Given the description of an element on the screen output the (x, y) to click on. 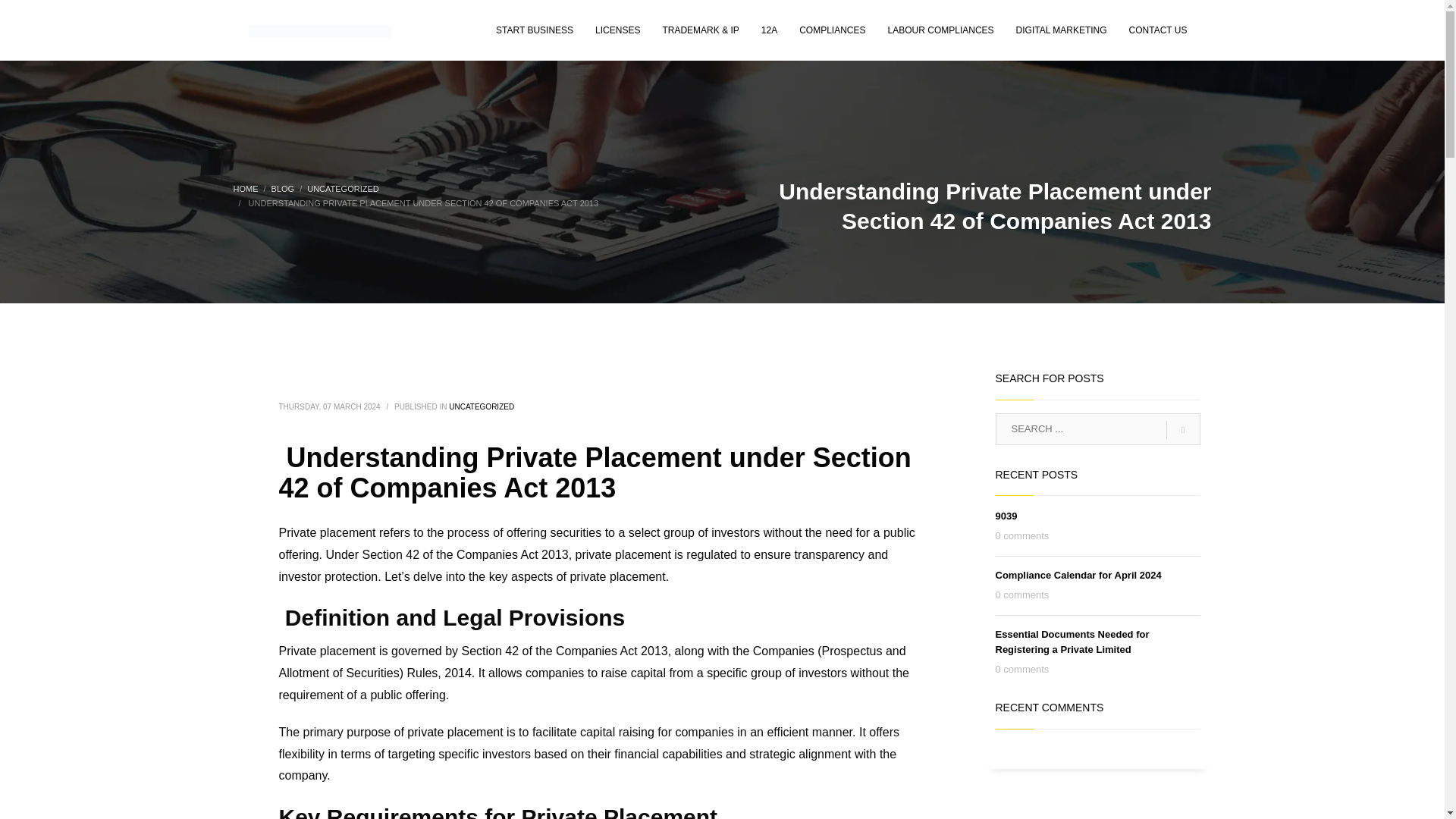
COMPLIANCES (832, 30)
HOME (245, 188)
BLOG (282, 188)
Compliance Calendar for April 2024 (1077, 574)
UNCATEGORIZED (480, 406)
Essential Documents Needed for Registering a Private Limited (1071, 641)
private placement (456, 731)
9039 (1005, 515)
UNCATEGORIZED (342, 188)
12A (769, 30)
START BUSINESS (534, 30)
CONTACT US (1157, 30)
DIGITAL MARKETING (1061, 30)
LABOUR COMPLIANCES (941, 30)
LICENSES (617, 30)
